Given the description of an element on the screen output the (x, y) to click on. 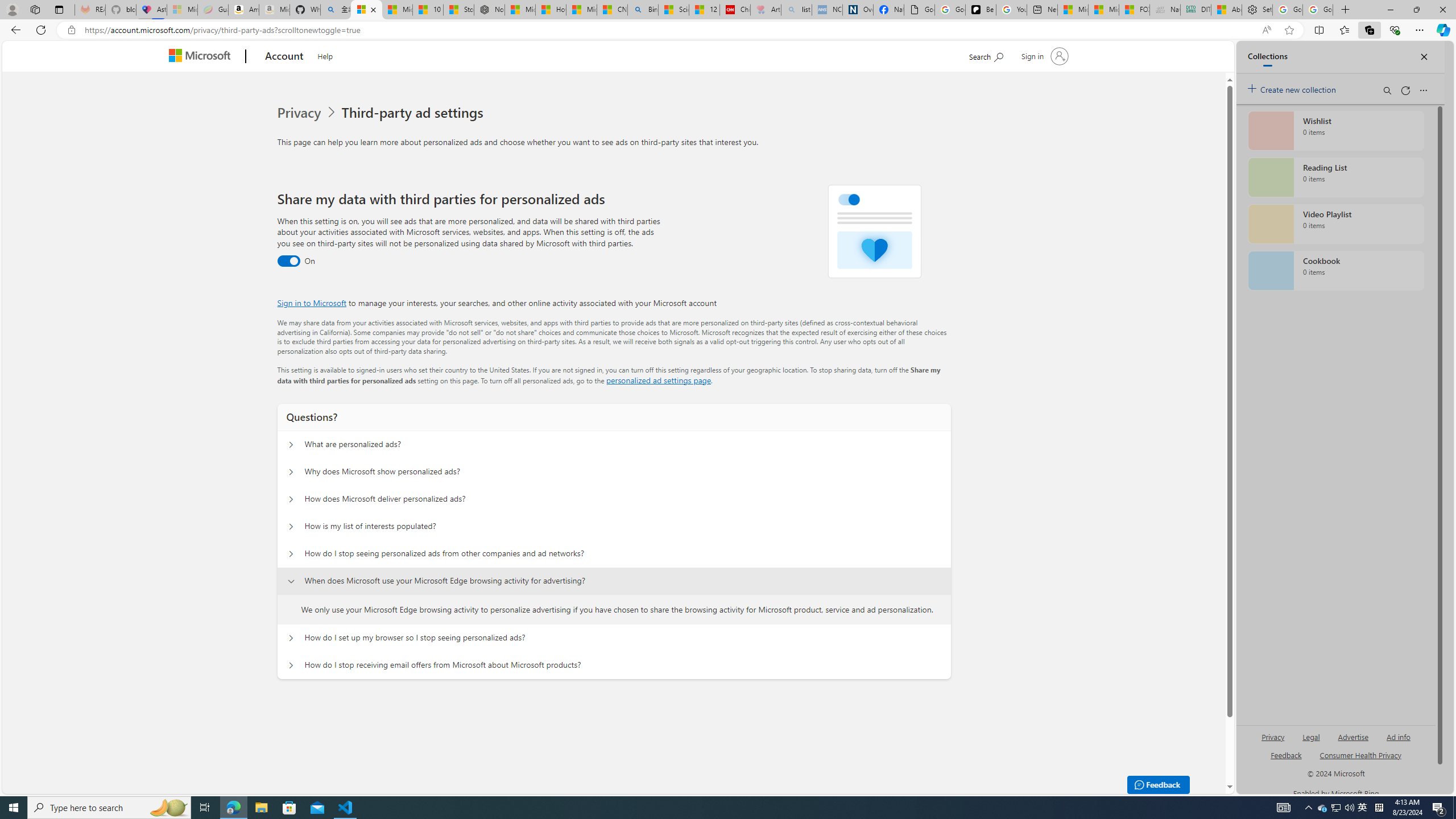
Third-party ad settings (414, 112)
CNN - MSN (611, 9)
Search Microsoft.com (986, 54)
Google Analytics Opt-out Browser Add-on Download Page (919, 9)
